Given the description of an element on the screen output the (x, y) to click on. 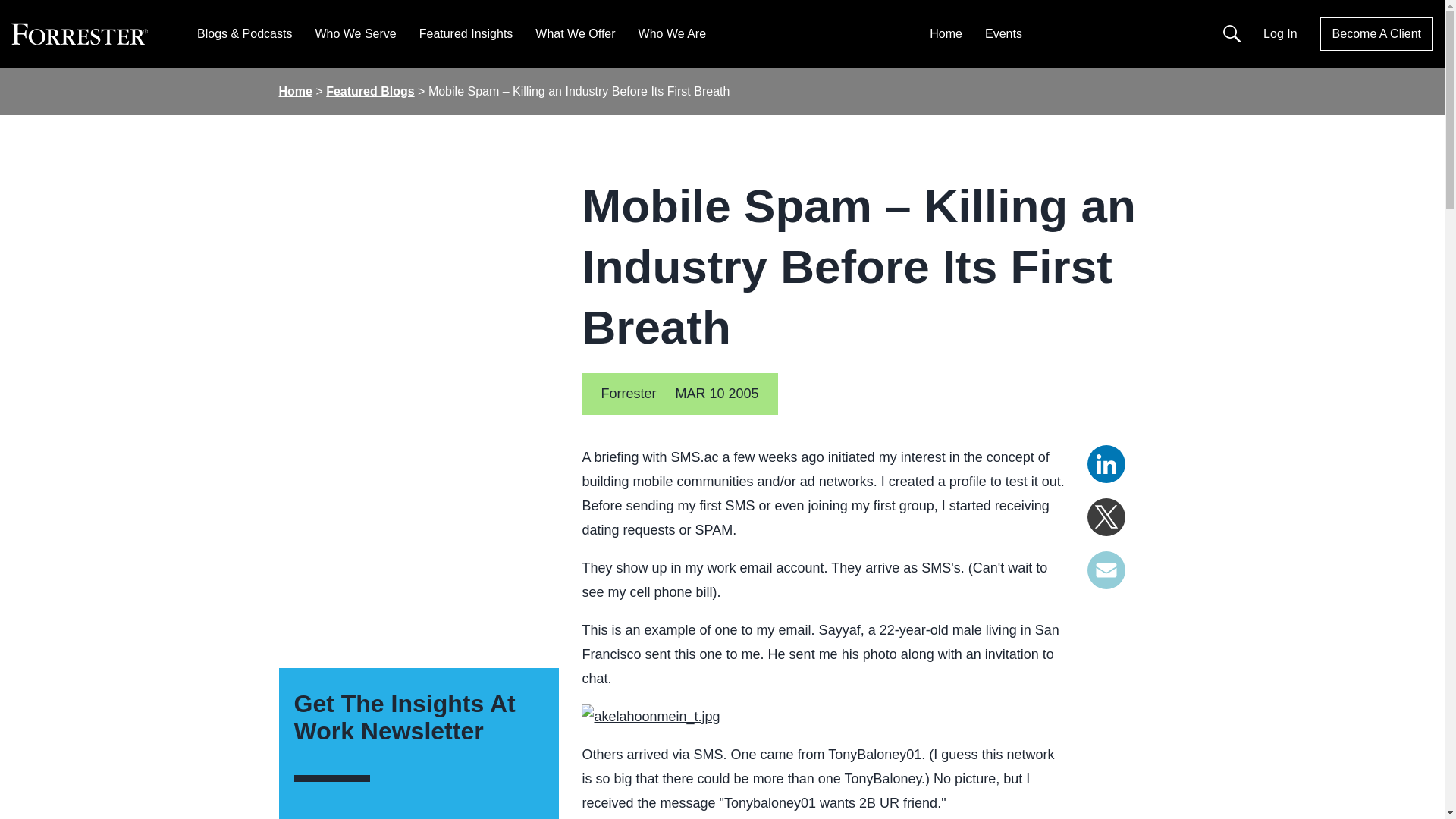
Who We Serve (355, 33)
Featured Insights (466, 33)
What We Offer (574, 33)
